Given the description of an element on the screen output the (x, y) to click on. 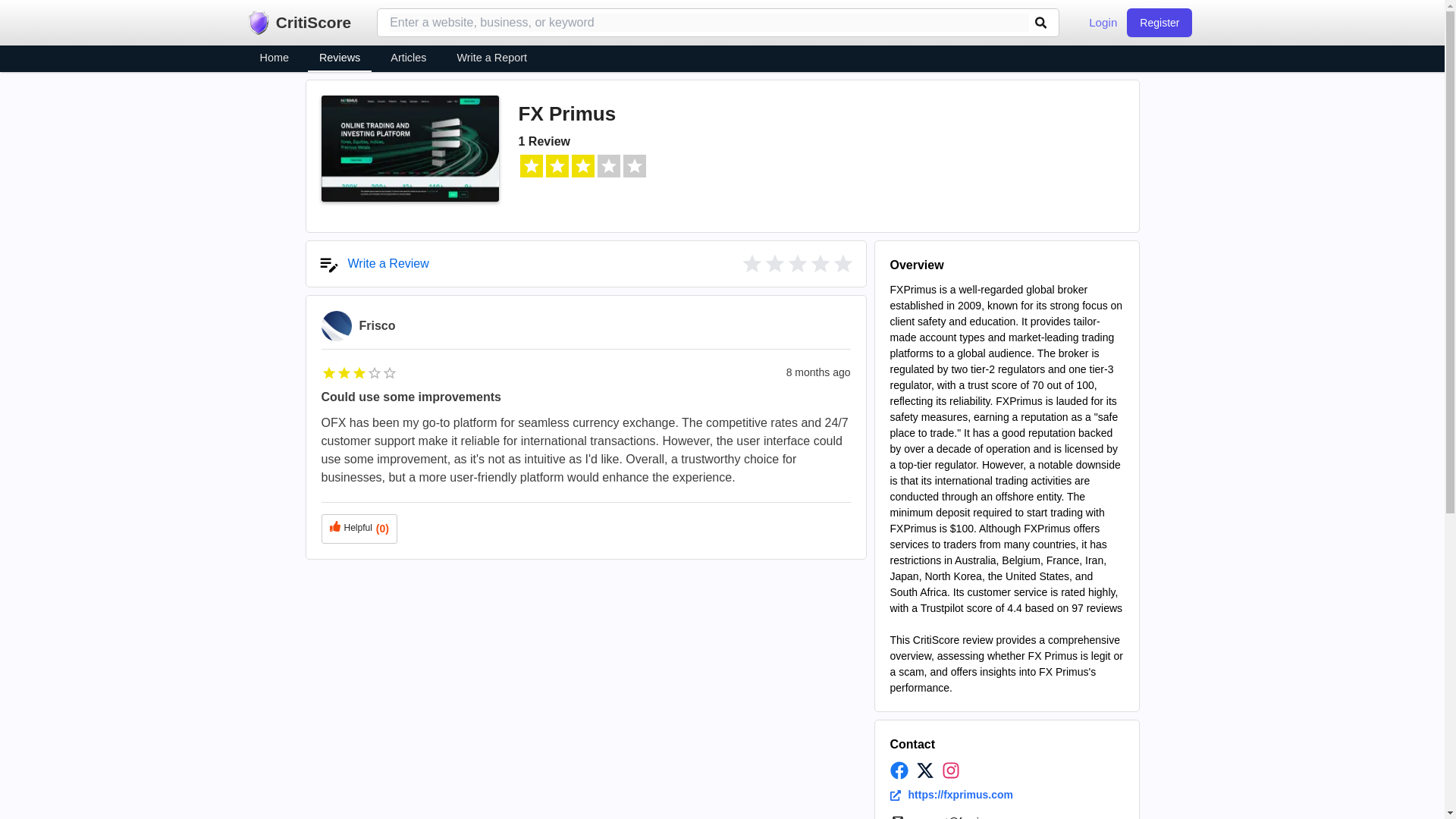
Reviews (339, 58)
Write a review (797, 263)
Write a review (750, 263)
Login (1102, 22)
Write a review (774, 263)
Write a review (819, 263)
Write a Review (372, 263)
Articles (408, 58)
Write a review (372, 263)
Register (1159, 22)
